Given the description of an element on the screen output the (x, y) to click on. 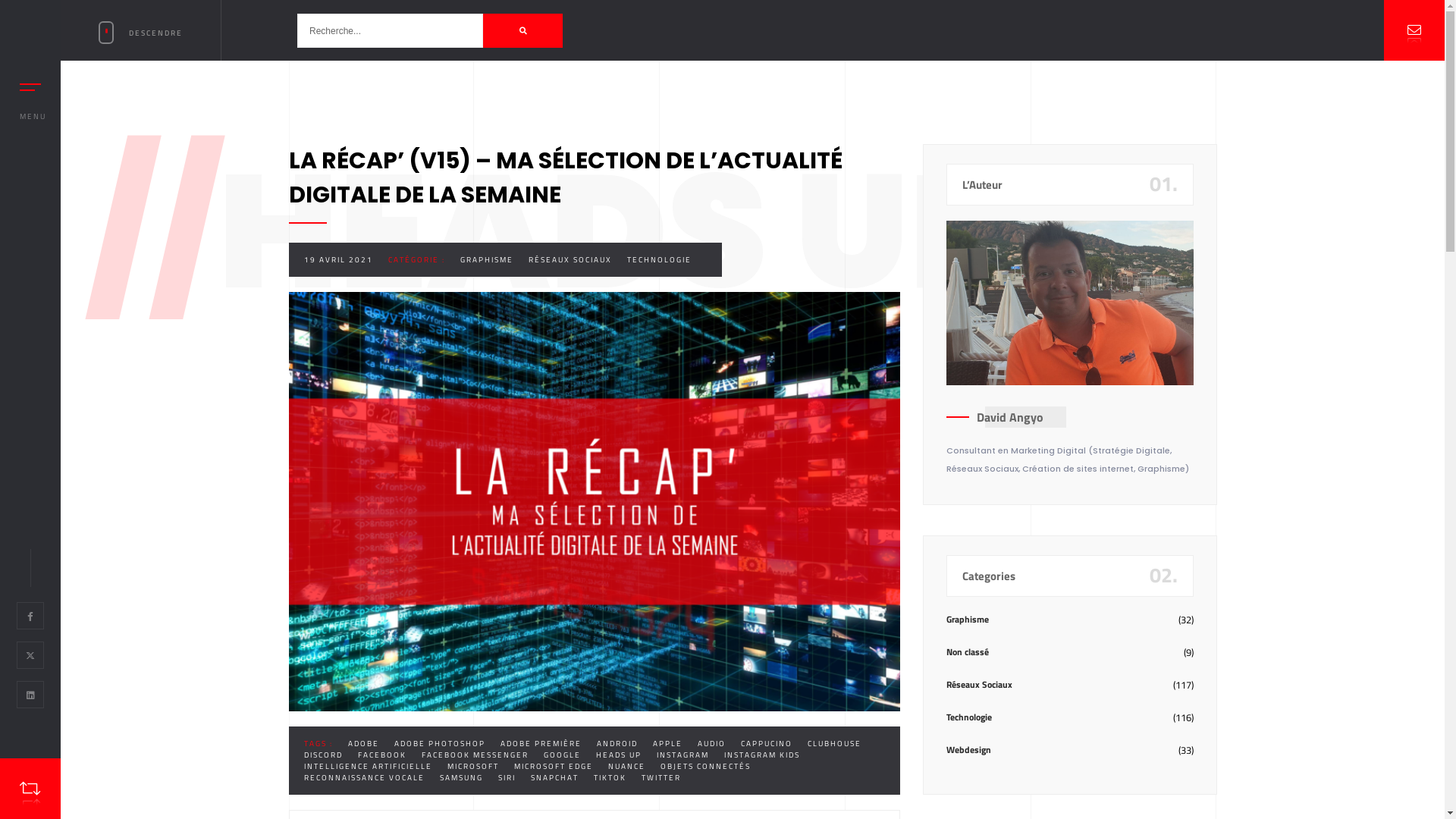
AUDIO Element type: text (711, 743)
SNAPCHAT Element type: text (554, 777)
19 AVRIL 2021 Element type: text (337, 259)
TECHNOLOGIE Element type: text (658, 259)
FACEBOOK Element type: text (381, 754)
CAPPUCINO Element type: text (765, 743)
RECONNAISSANCE VOCALE Element type: text (363, 777)
APPLE Element type: text (666, 743)
INTELLIGENCE ARTIFICIELLE Element type: text (367, 765)
FACEBOOK MESSENGER Element type: text (474, 754)
MICROSOFT EDGE Element type: text (553, 765)
ADOBE PHOTOSHOP Element type: text (439, 743)
CLUBHOUSE Element type: text (833, 743)
DAVID@ANGYO.BE Element type: text (608, 693)
GRAPHISME Element type: text (485, 259)
Technologie Element type: text (968, 716)
Webdesign Element type: text (968, 749)
SIRI Element type: text (505, 777)
ANDROID Element type: text (616, 743)
INSTAGRAM KIDS Element type: text (761, 754)
Graphisme Element type: text (967, 618)
TWITTER Element type: text (660, 777)
DISCORD Element type: text (322, 754)
GOOGLE Element type: text (561, 754)
ADOBE Element type: text (362, 743)
INSTAGRAM Element type: text (682, 754)
TIKTOK Element type: text (609, 777)
David Angyo Element type: text (1009, 416)
NUANCE Element type: text (626, 765)
HEADS UP Element type: text (618, 754)
MICROSOFT Element type: text (472, 765)
SAMSUNG Element type: text (461, 777)
